Given the description of an element on the screen output the (x, y) to click on. 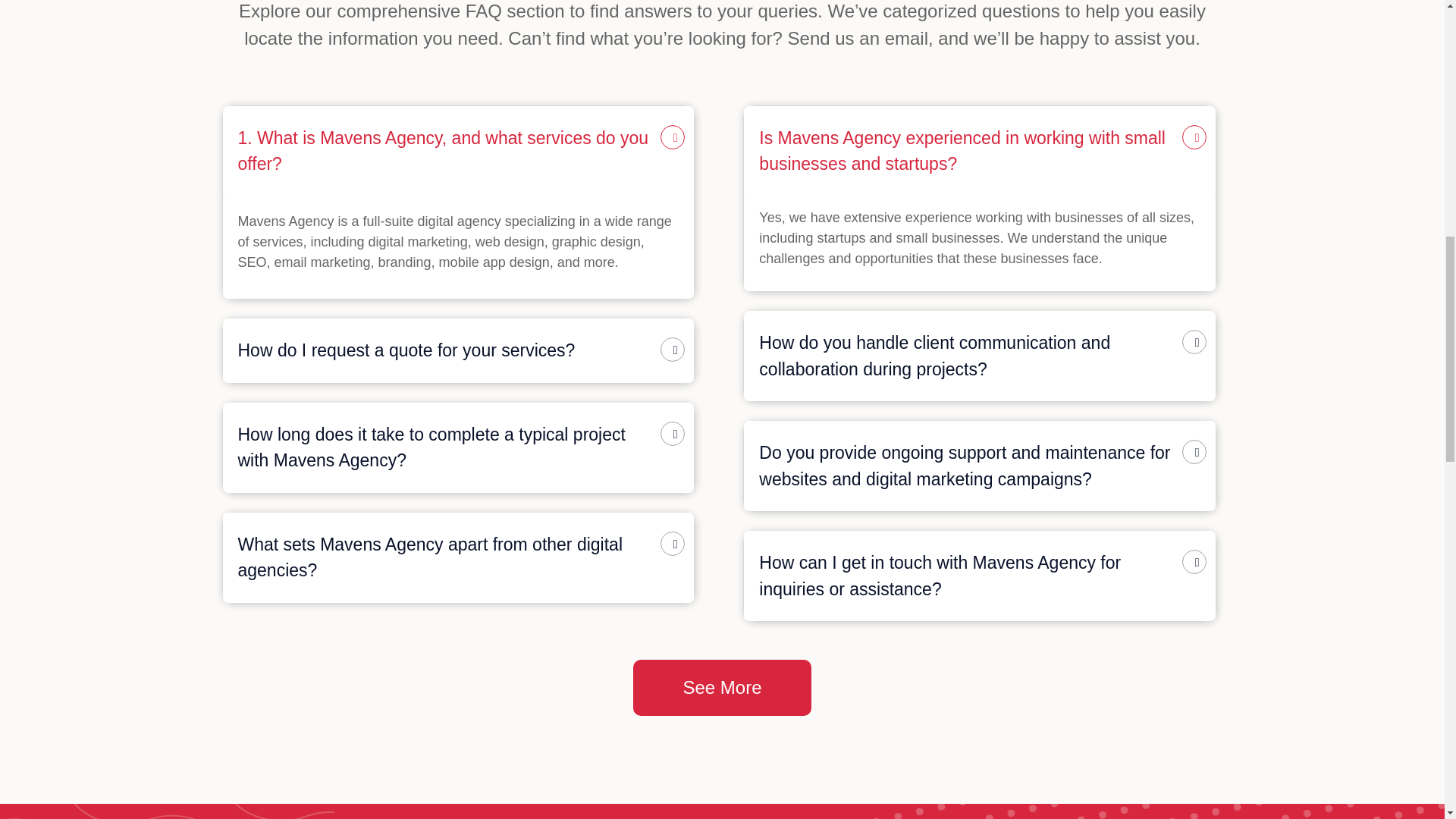
How do I request a quote for your services? (406, 350)
1. What is Mavens Agency, and what services do you offer? (443, 150)
What sets Mavens Agency apart from other digital agencies? (430, 557)
